Given the description of an element on the screen output the (x, y) to click on. 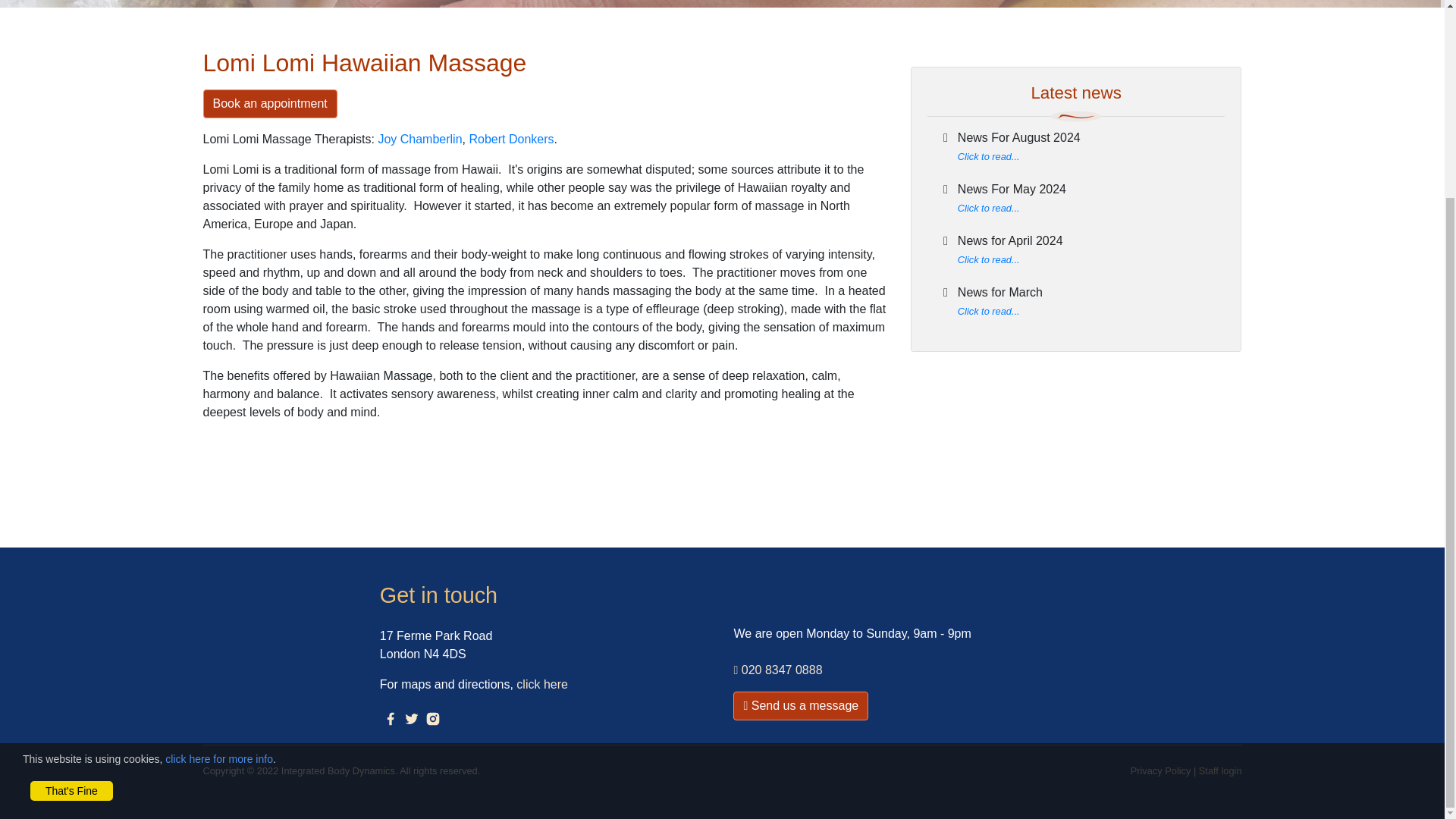
Robert Donkers (510, 138)
Book an appointment (270, 103)
Click to read... (989, 207)
Click to read... (989, 156)
Joy Chamberlin (418, 138)
